Given the description of an element on the screen output the (x, y) to click on. 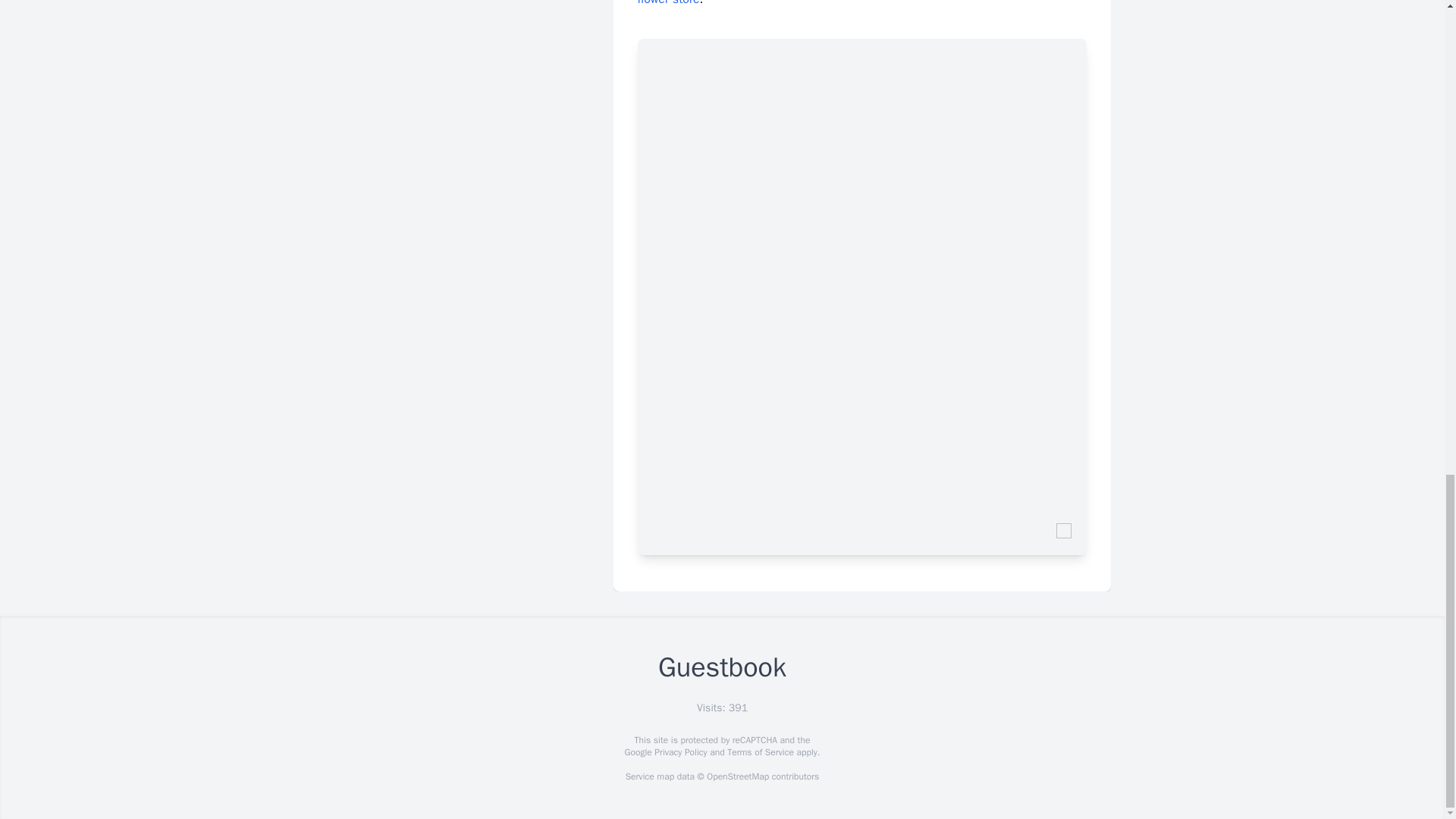
OpenStreetMap (737, 776)
Terms of Service (759, 752)
Privacy Policy (679, 752)
flower store (667, 3)
